Given the description of an element on the screen output the (x, y) to click on. 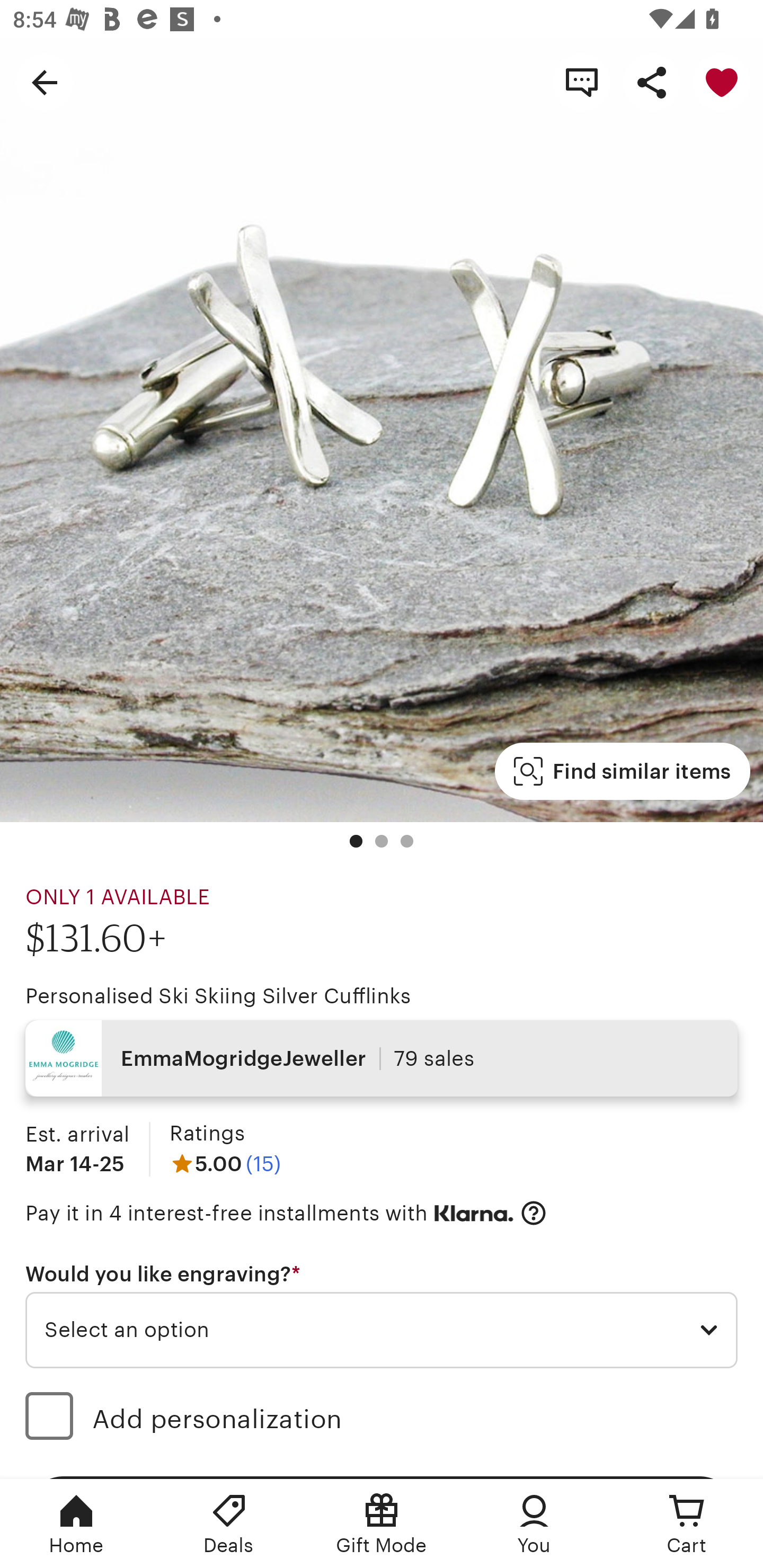
Navigate up (44, 81)
Contact shop (581, 81)
Share (651, 81)
Find similar items (622, 771)
Personalised Ski Skiing Silver Cufflinks (218, 996)
EmmaMogridgeJeweller 79 sales (381, 1058)
Ratings (206, 1133)
5.00 (15) (225, 1163)
Select an option (381, 1330)
Add personalization (optional) Add personalization (381, 1418)
Deals (228, 1523)
Gift Mode (381, 1523)
You (533, 1523)
Cart (686, 1523)
